Given the description of an element on the screen output the (x, y) to click on. 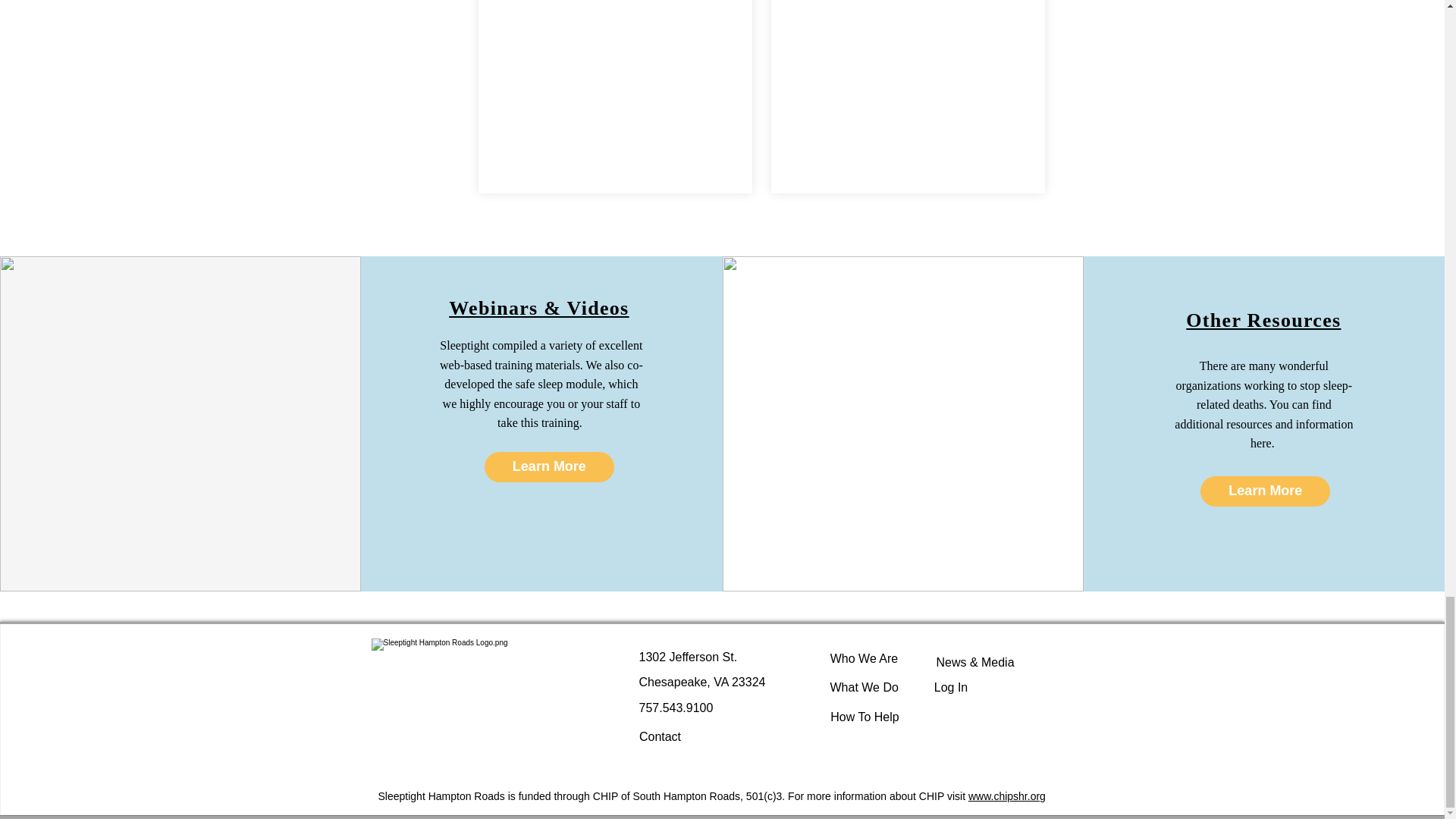
Who We Are (863, 658)
What We Do (863, 687)
Learn More (1264, 490)
Other Resources (1263, 319)
Learn More (549, 467)
Contact (660, 736)
How To Help (864, 717)
757.543.9100 (676, 707)
